Given the description of an element on the screen output the (x, y) to click on. 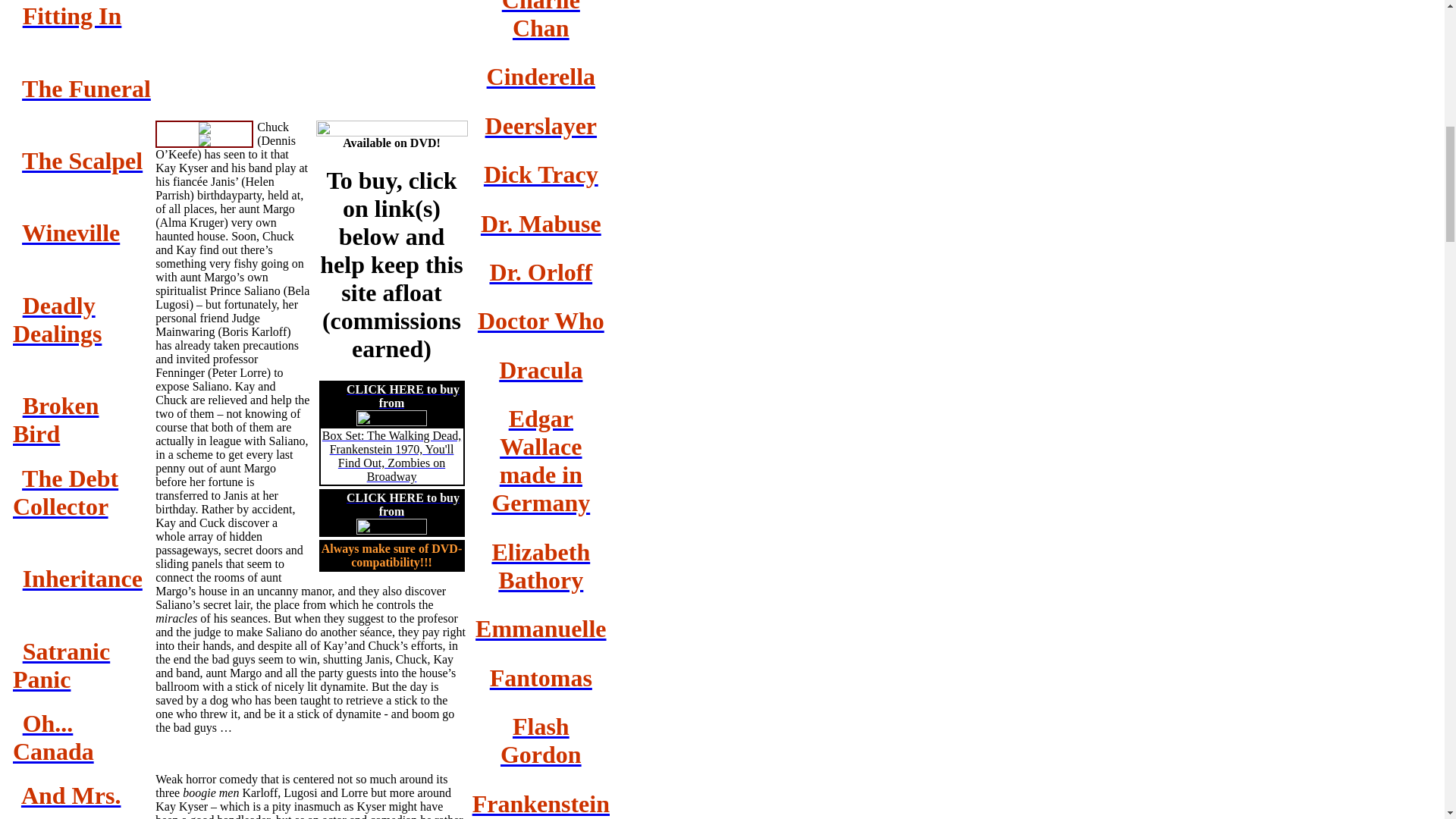
And Mrs. (70, 795)
The Funeral (86, 87)
Satranic Panic (61, 665)
Oh... Canada (53, 737)
Wineville (70, 232)
Deadly Dealings (57, 319)
Broken Bird (56, 419)
The Debt Collector (65, 492)
Inheritance (82, 578)
The Scalpel (81, 160)
